Given the description of an element on the screen output the (x, y) to click on. 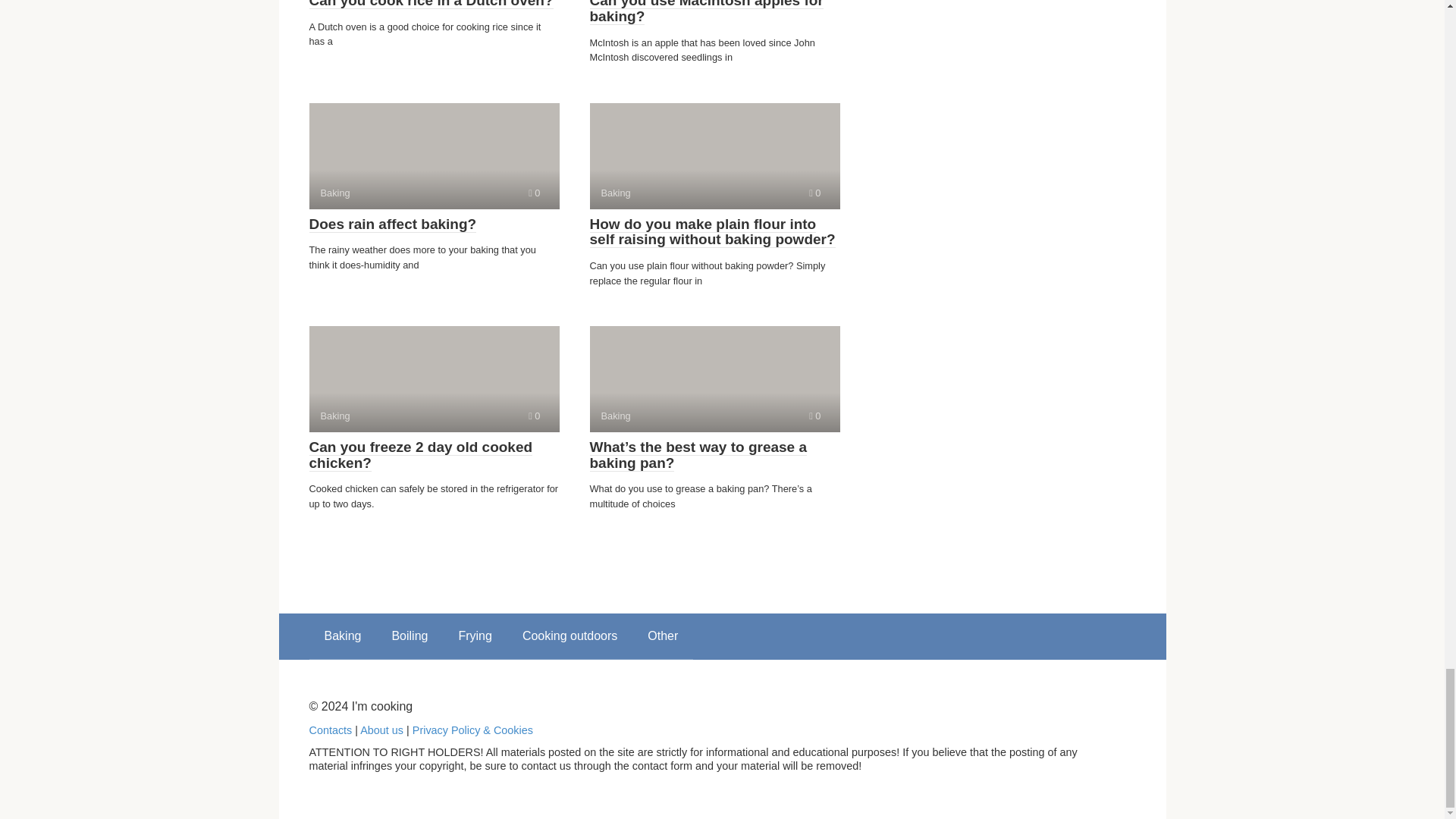
Can you cook rice in a Dutch oven? (430, 4)
Can you use Macintosh apples for baking? (433, 156)
Comments (706, 12)
Comments (815, 415)
Comments (534, 415)
Comments (714, 156)
Does rain affect baking? (815, 193)
